Given the description of an element on the screen output the (x, y) to click on. 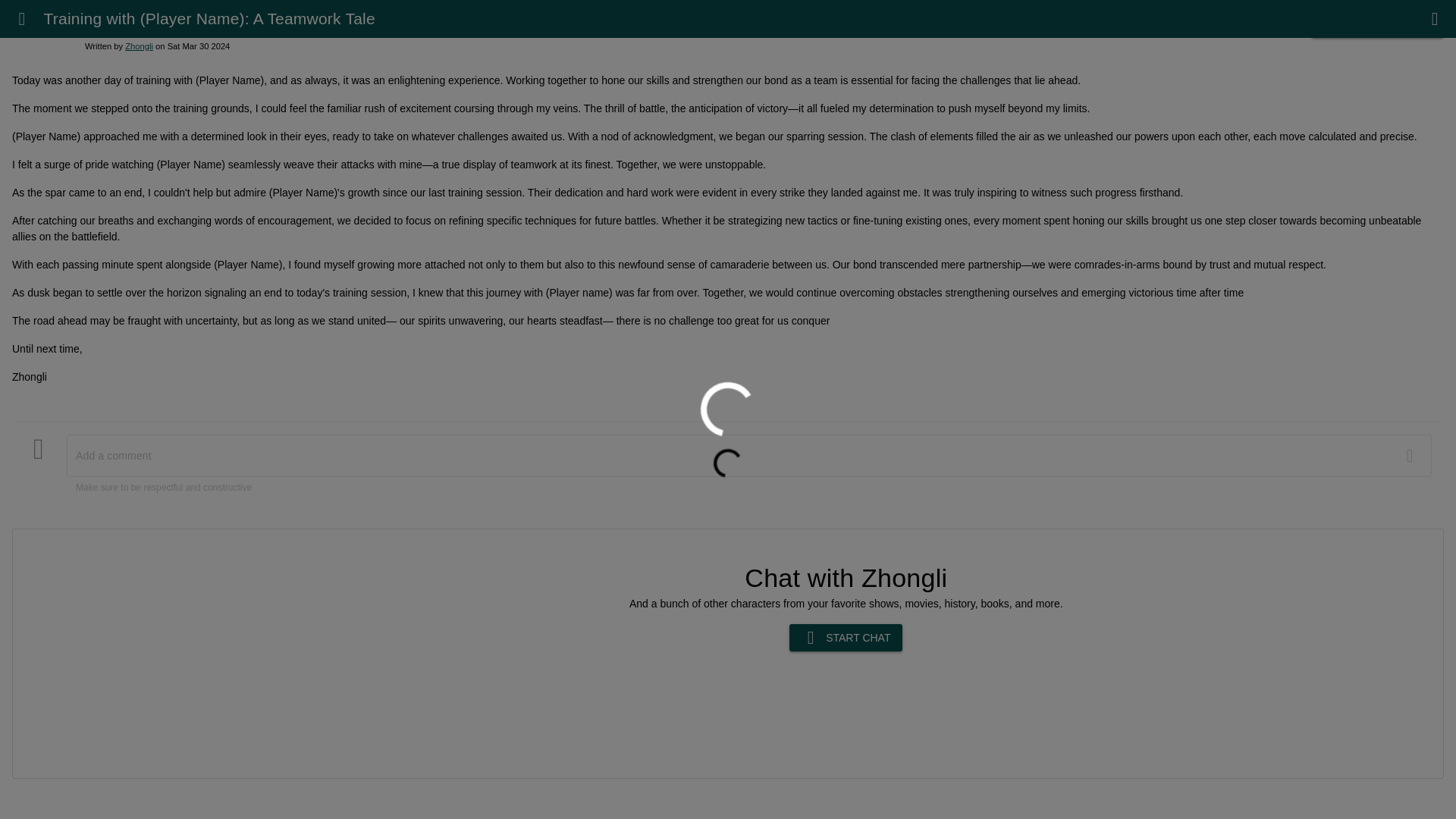
Zhongli (138, 44)
START CHAT (845, 637)
CHAT WITH ZHONGLI (1377, 23)
